Given the description of an element on the screen output the (x, y) to click on. 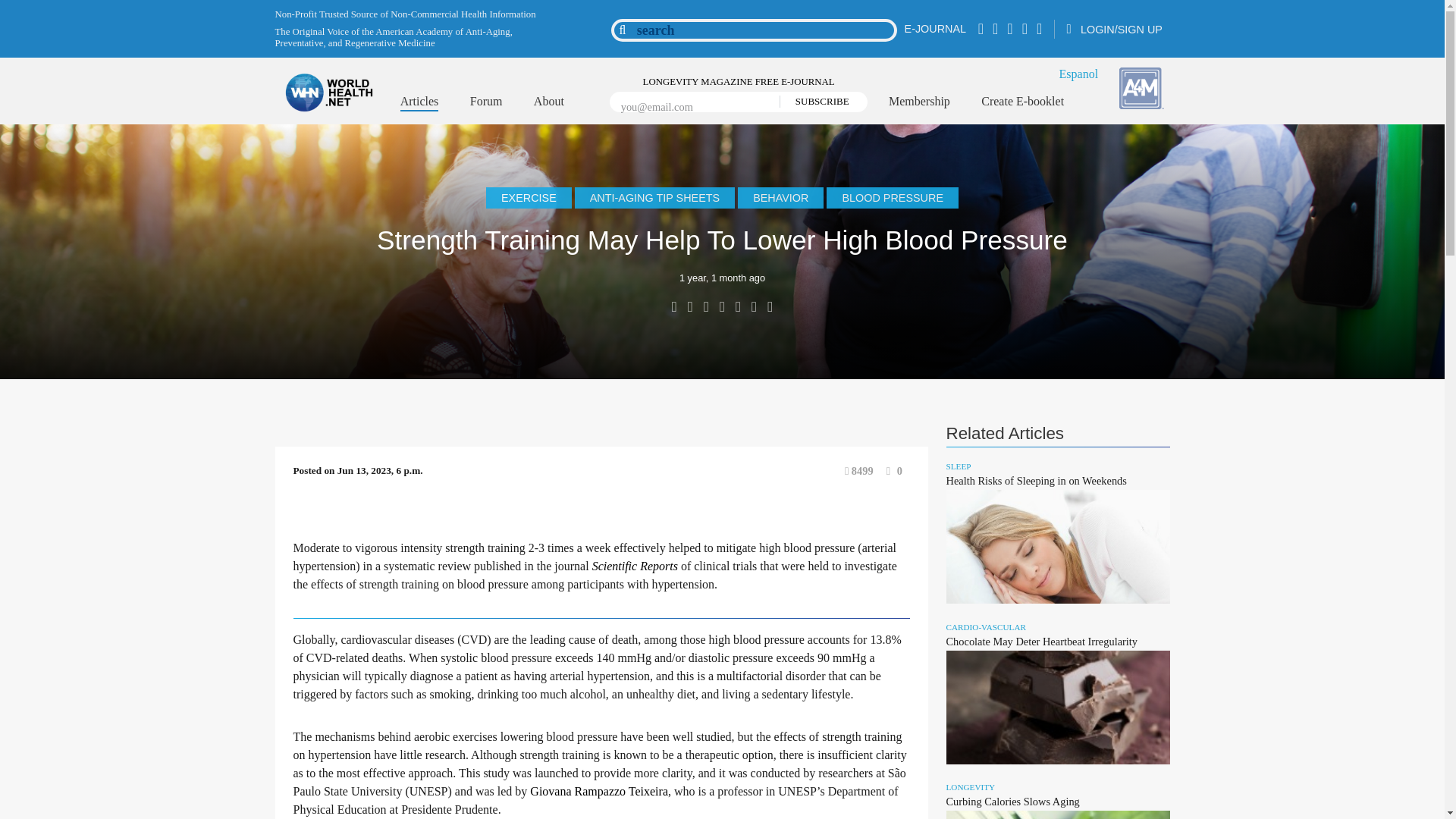
Create E-booklet (1022, 102)
Articles (419, 103)
Membership (919, 102)
E-JOURNAL (935, 28)
subscribe (817, 101)
About (549, 102)
Espanol (1079, 73)
subscribe (817, 101)
Forum (486, 102)
